Given the description of an element on the screen output the (x, y) to click on. 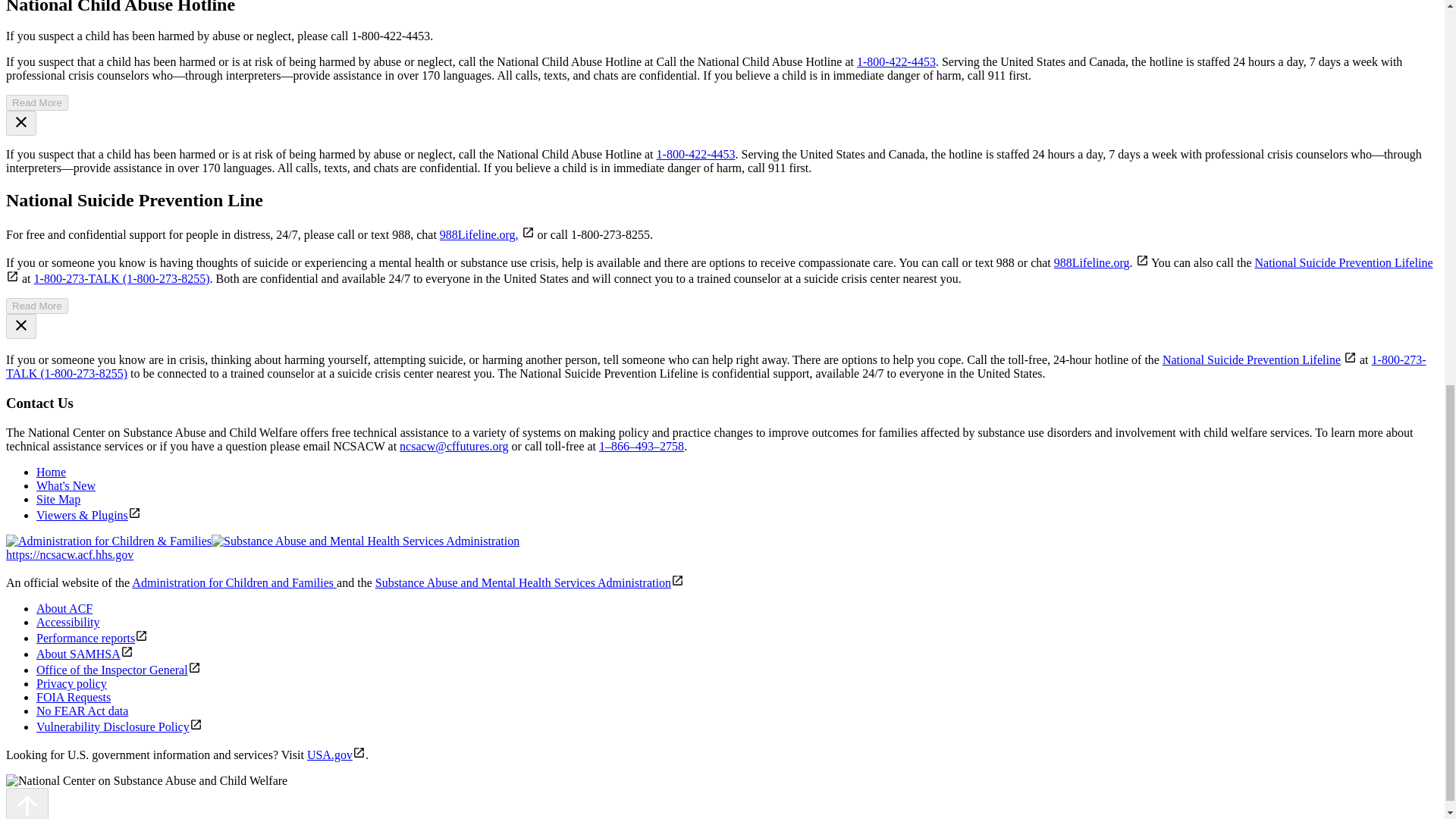
988Lifeline.org, (478, 234)
988Lifeline.org (1091, 262)
Read More (36, 305)
Read More (36, 102)
1-800-422-4453 (896, 61)
1-800-422-4453 (695, 154)
National Suicide Prevention Lifeline (1250, 359)
